Given the description of an element on the screen output the (x, y) to click on. 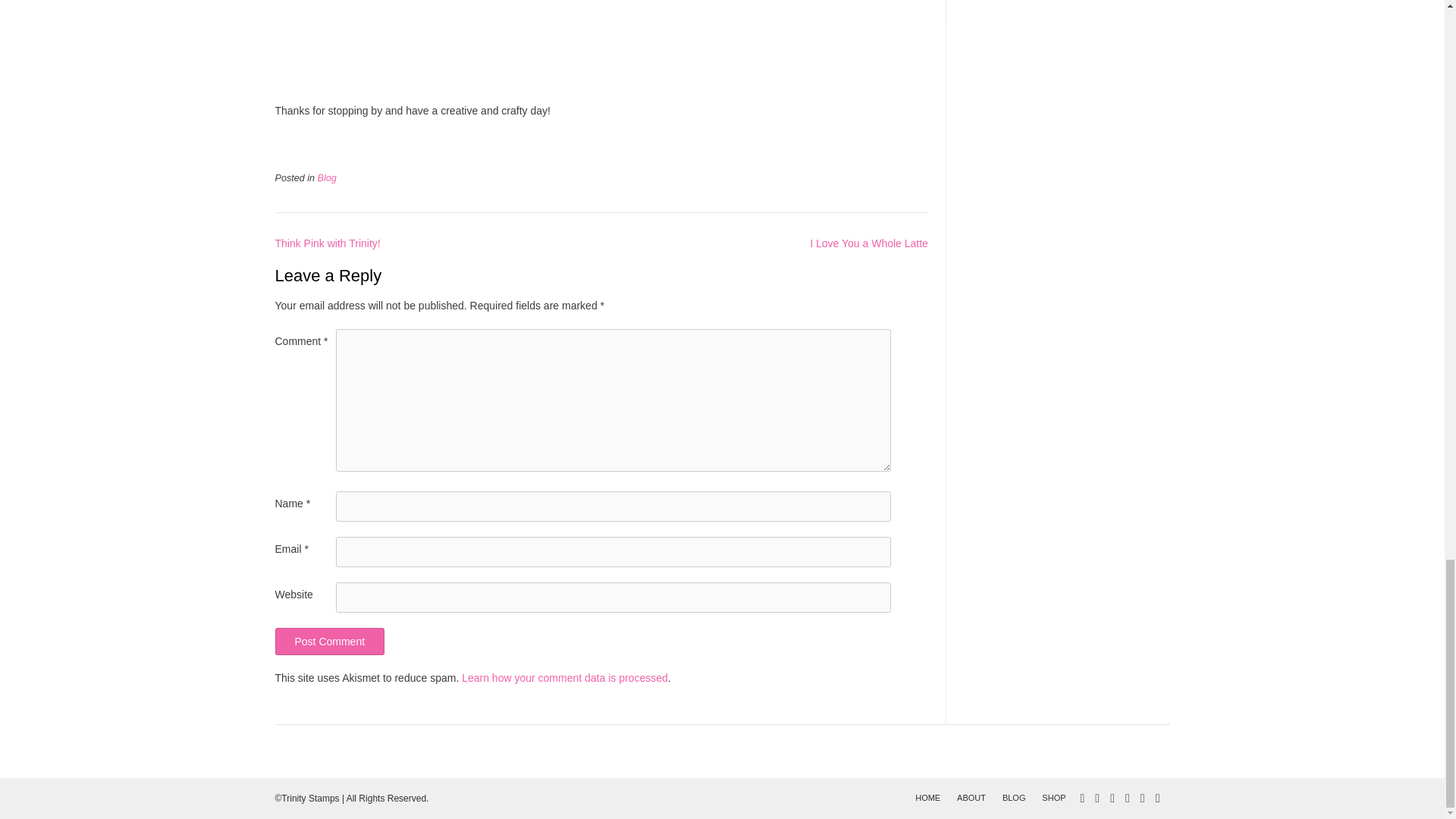
Blog (326, 177)
Learn how your comment data is processed (564, 677)
Post Comment (329, 641)
I Love You a Whole Latte (868, 243)
Think Pink with Trinity! (327, 243)
Post Comment (329, 641)
